Given the description of an element on the screen output the (x, y) to click on. 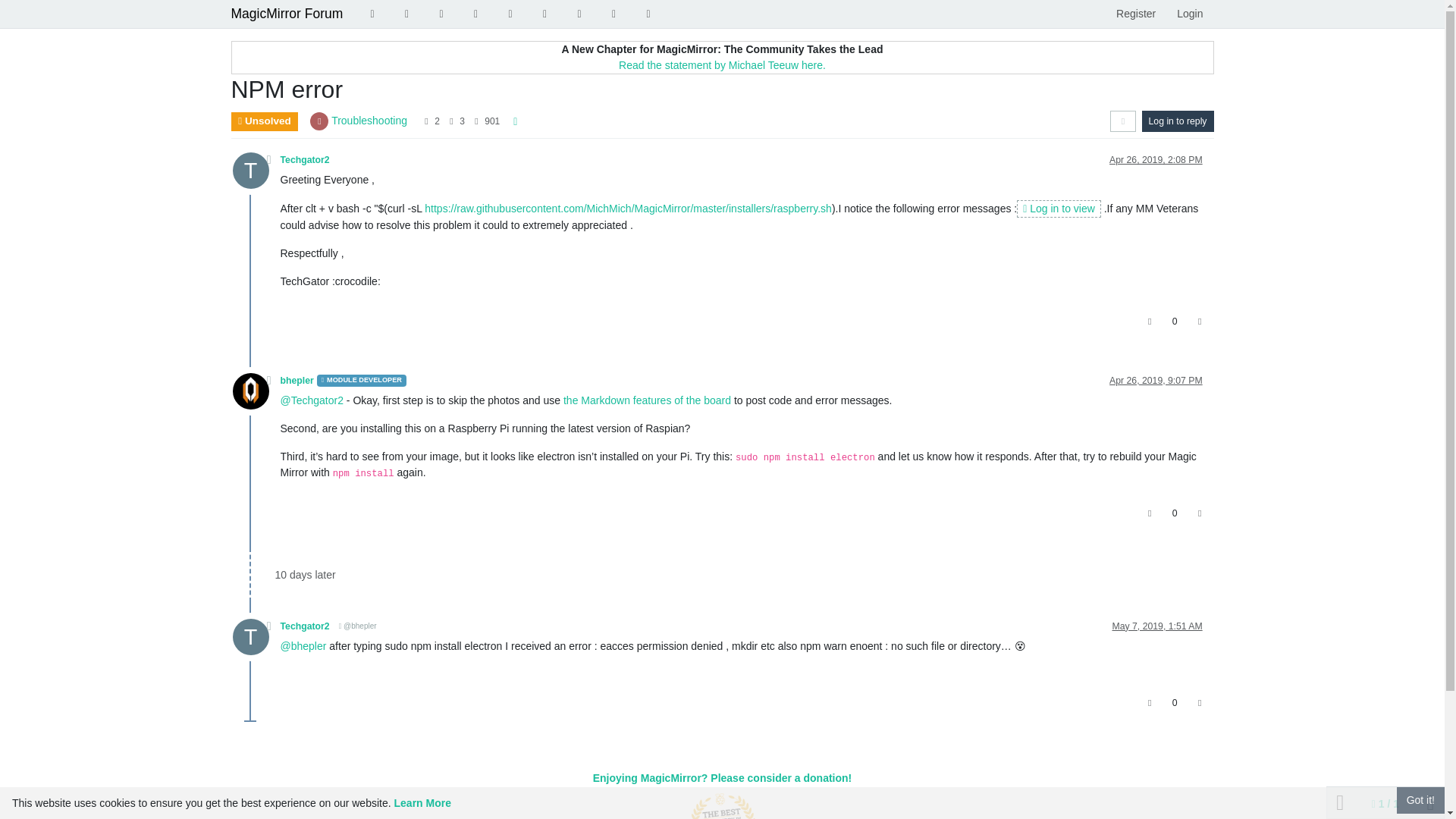
Register (1135, 13)
3rd-Party-Modules (579, 13)
Login (1189, 13)
Unsolved (440, 13)
Solved (475, 13)
Tags (407, 13)
Documentation (544, 13)
Donate (613, 13)
Join our Discord channel. (647, 13)
Recent (372, 13)
